Given the description of an element on the screen output the (x, y) to click on. 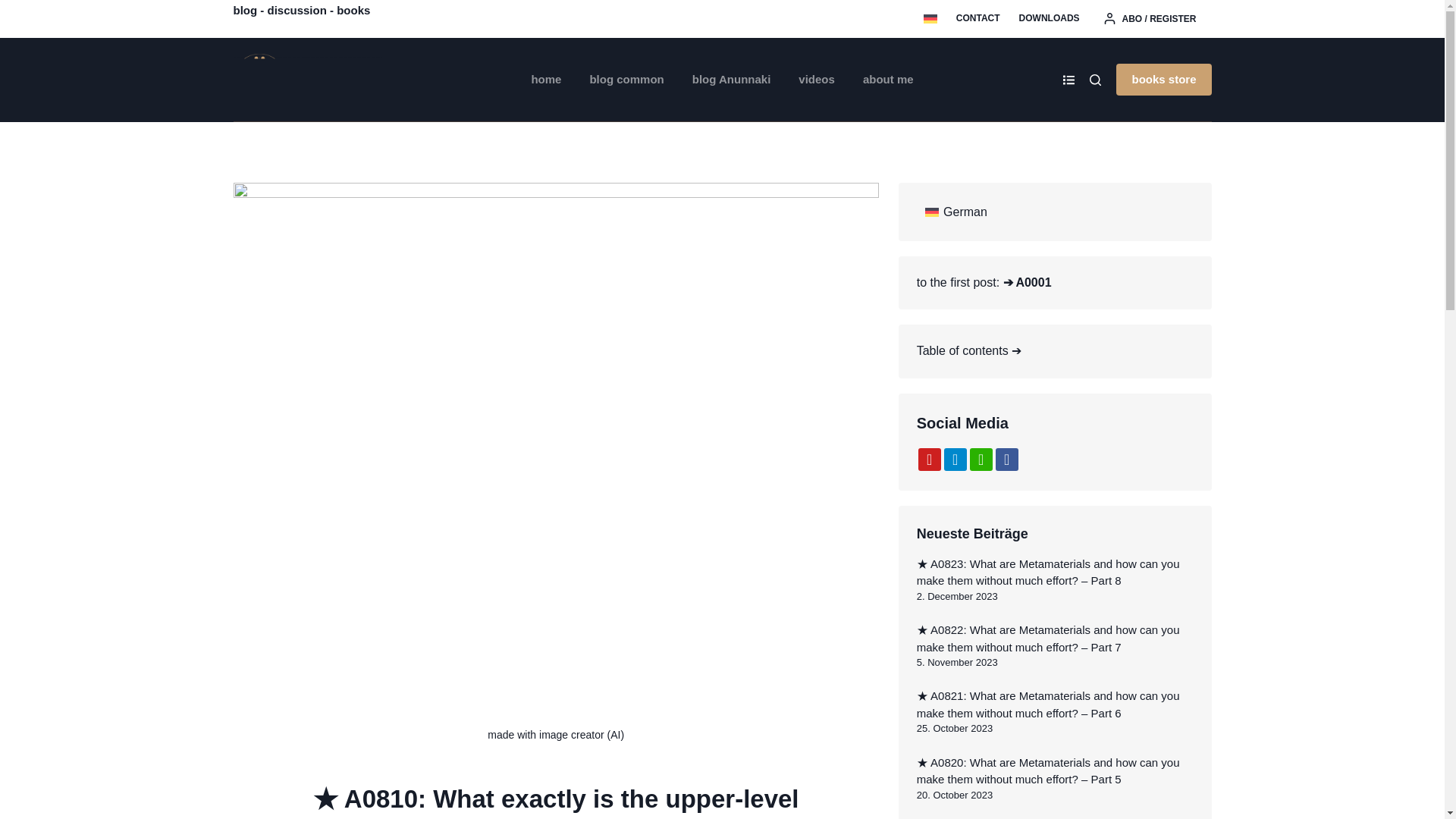
blog common (626, 79)
DOWNLOADS (1049, 18)
CONTACT (977, 18)
WhatsApp (980, 458)
books store (1163, 79)
Telegram (954, 458)
youtube (929, 458)
Facebook (1006, 458)
blog Anunnaki (731, 79)
about me (887, 79)
